Given the description of an element on the screen output the (x, y) to click on. 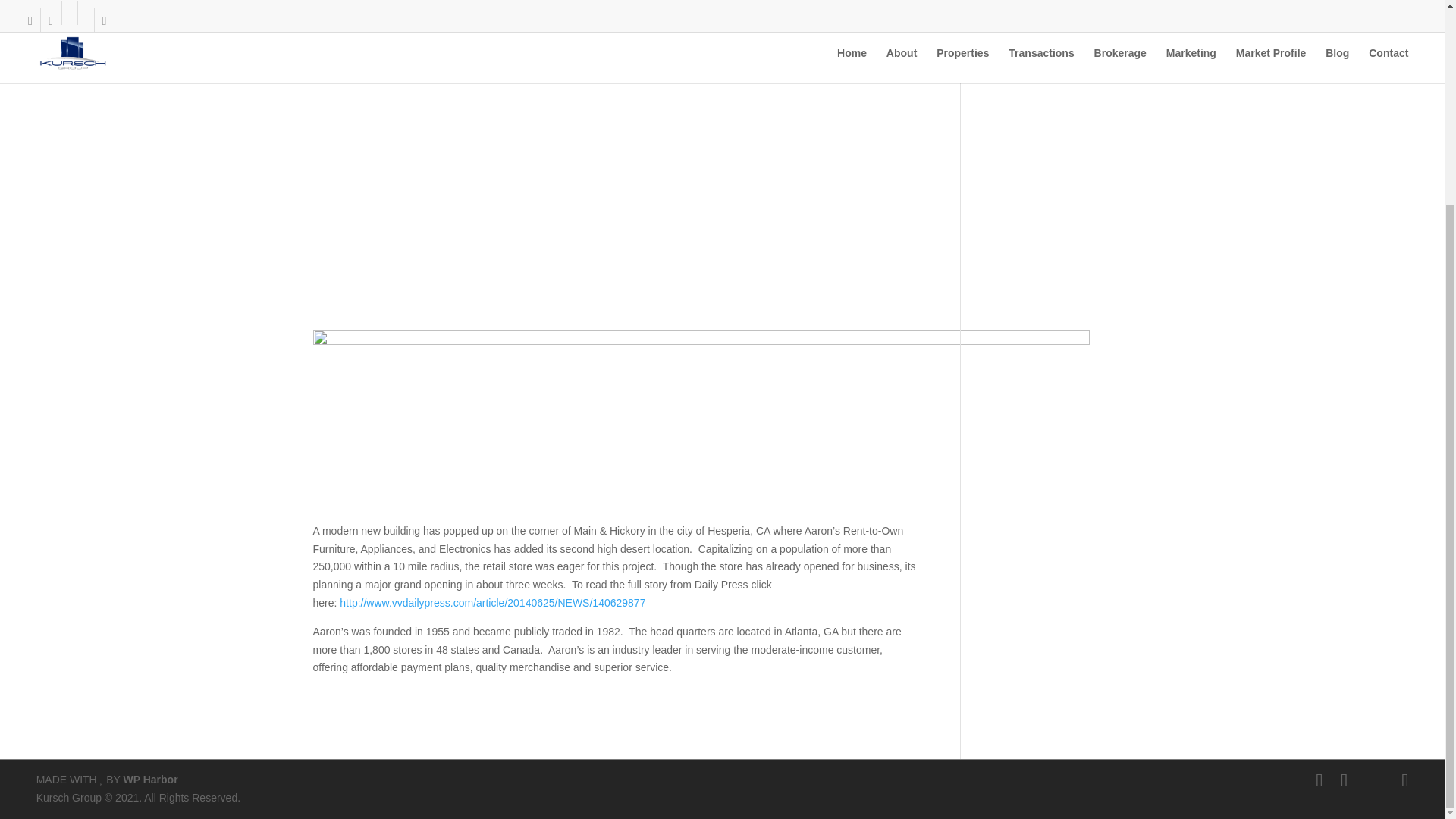
WP Harbor (149, 779)
